Given the description of an element on the screen output the (x, y) to click on. 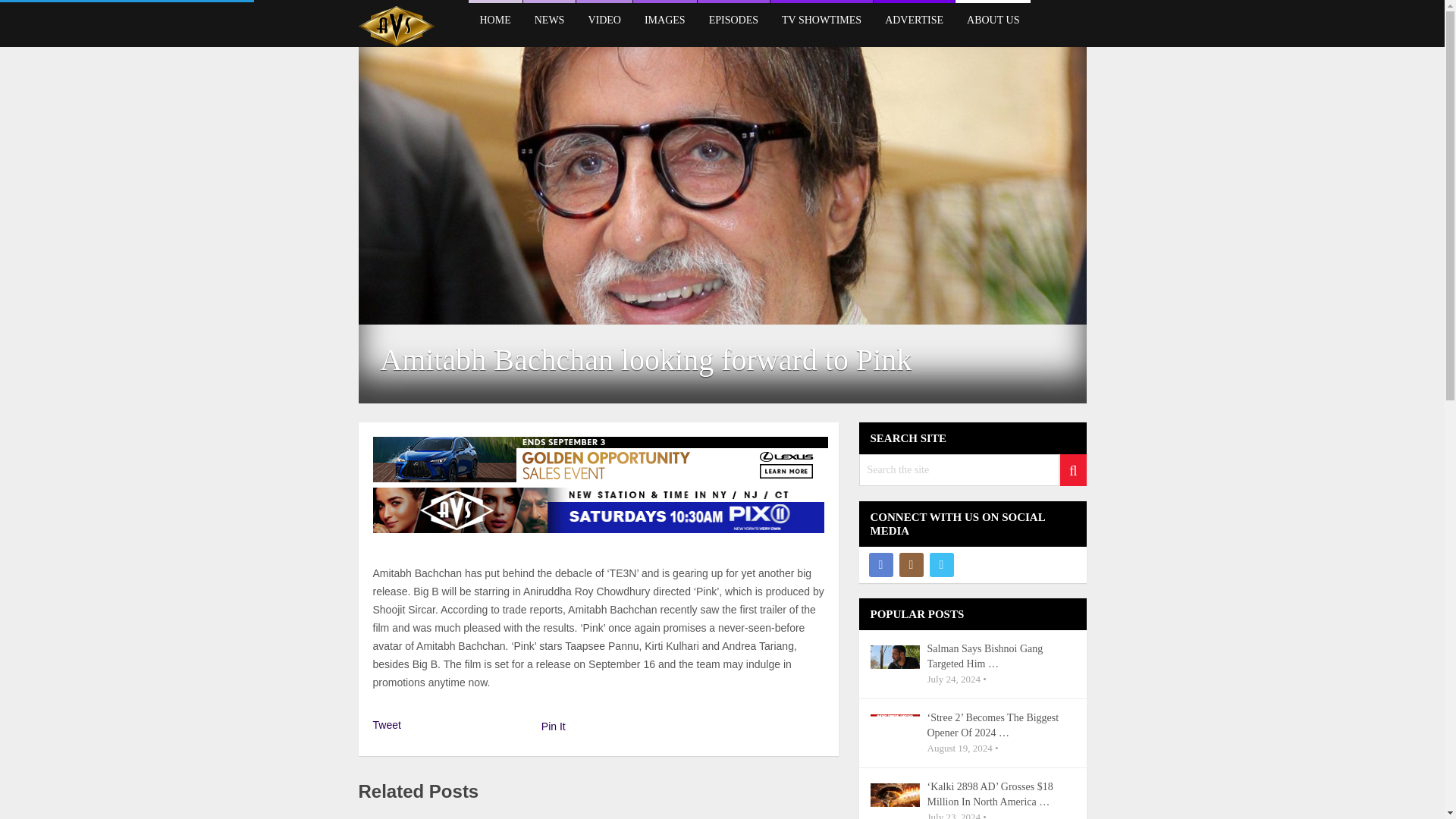
Pin It (553, 726)
IMAGES (665, 18)
Tweet (386, 725)
TV SHOWTIMES (821, 18)
NEWS (549, 18)
VIDEO (603, 18)
EPISODES (733, 18)
ADVERTISE (914, 18)
ABOUT US (992, 18)
HOME (495, 18)
